Given the description of an element on the screen output the (x, y) to click on. 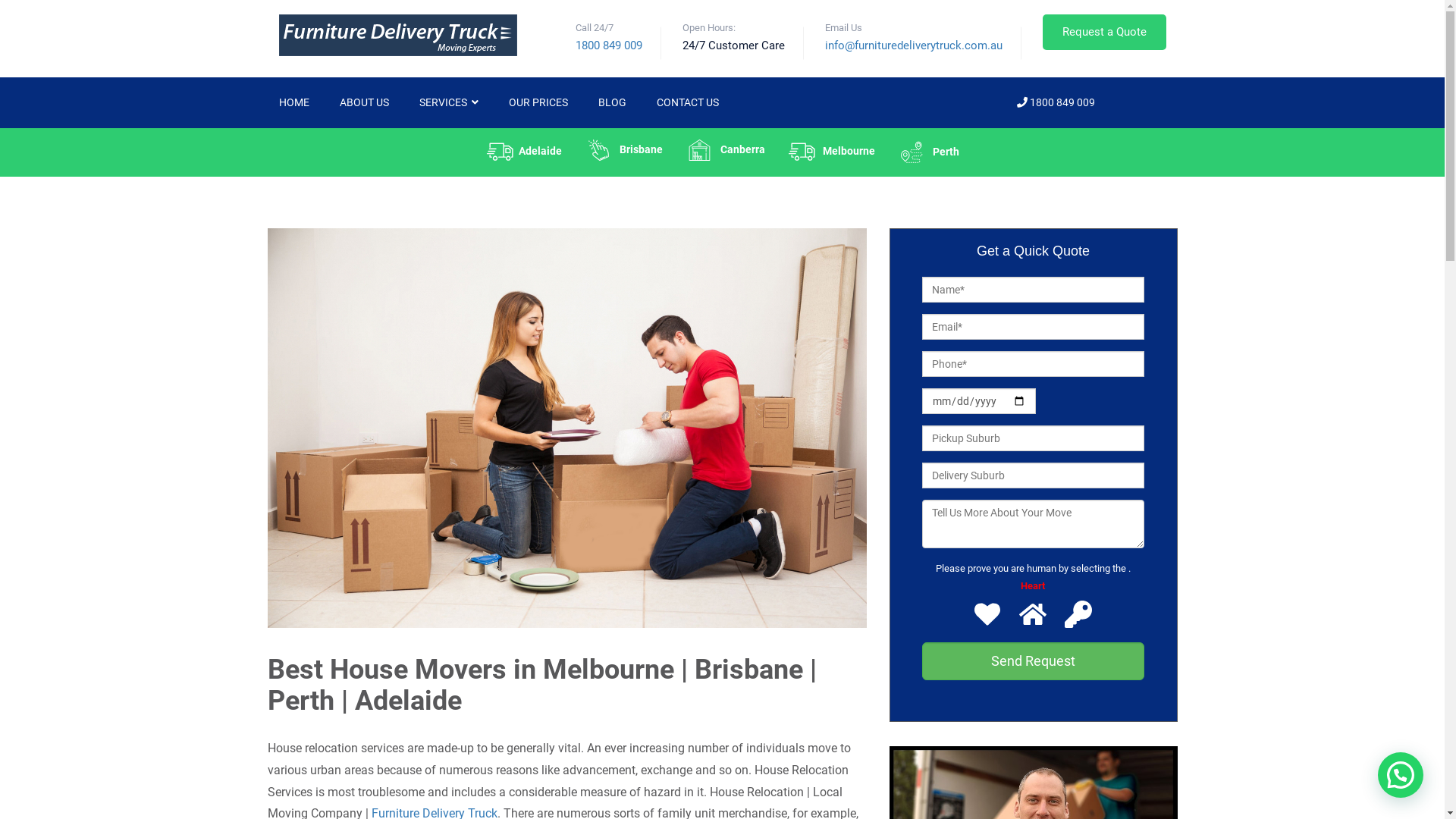
Brisbane Element type: text (623, 149)
House Relocation Element type: text (1119, 149)
1800 849 009 Element type: text (1054, 101)
info@furnituredeliverytruck.com.au Element type: text (913, 45)
Canberra Element type: text (724, 149)
Adelaide Element type: text (523, 151)
Send Request Element type: text (1033, 661)
Request a Quote Element type: text (1103, 32)
SERVICES Element type: text (447, 102)
OUR PRICES Element type: text (537, 102)
Perth Element type: text (927, 151)
1800 849 009 Element type: text (607, 45)
Home Element type: text (1035, 149)
Melbourne Element type: text (831, 151)
ABOUT US Element type: text (364, 102)
BLOG Element type: text (611, 102)
HOME Element type: text (294, 102)
CONTACT US Element type: text (687, 102)
